Given the description of an element on the screen output the (x, y) to click on. 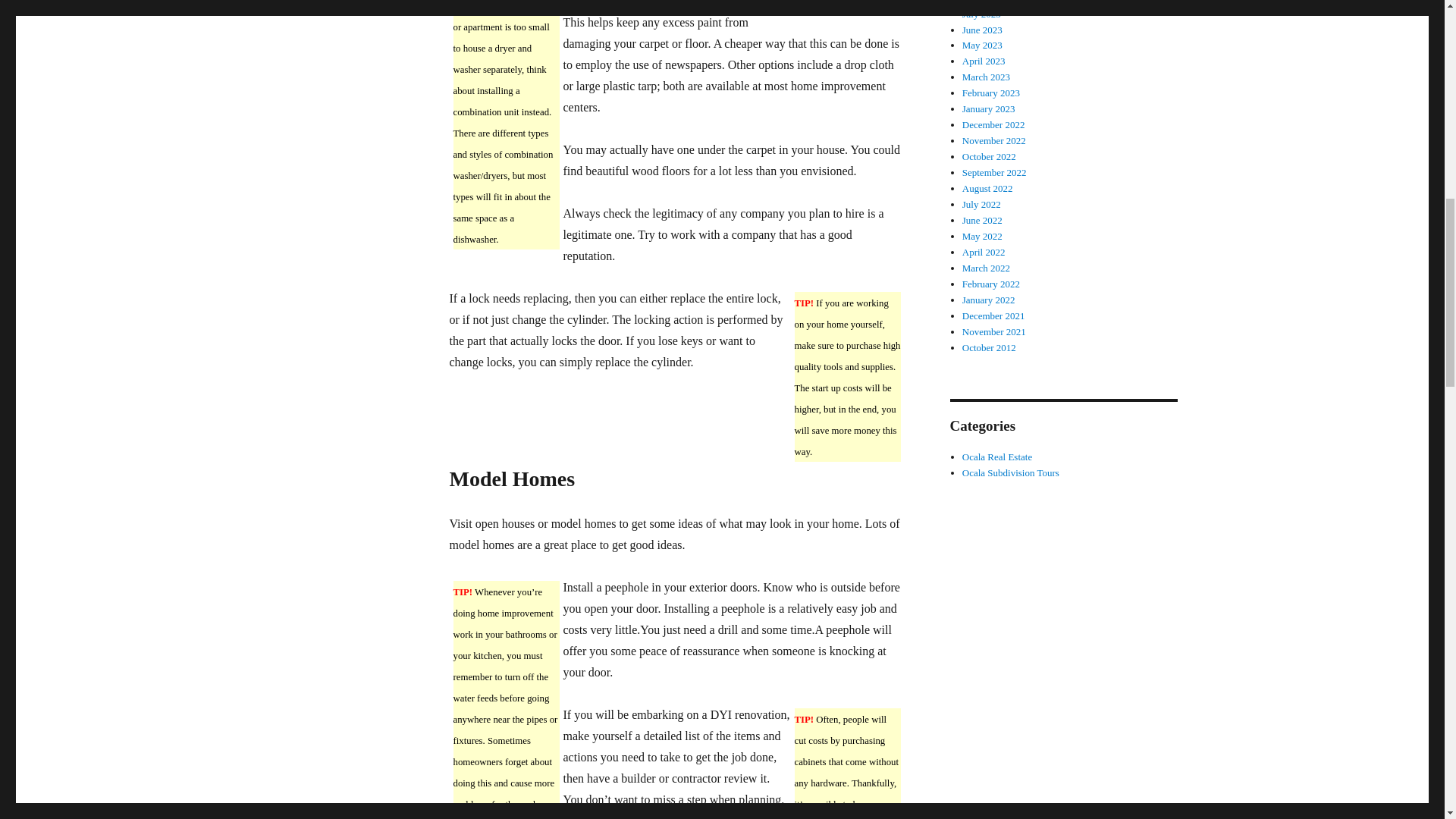
November 2022 (994, 140)
August 2023 (987, 2)
August 2022 (987, 188)
January 2023 (988, 108)
March 2023 (986, 76)
May 2023 (982, 44)
September 2022 (994, 172)
July 2023 (981, 13)
October 2022 (989, 156)
February 2023 (991, 92)
April 2023 (984, 60)
June 2023 (982, 30)
December 2022 (993, 124)
